Given the description of an element on the screen output the (x, y) to click on. 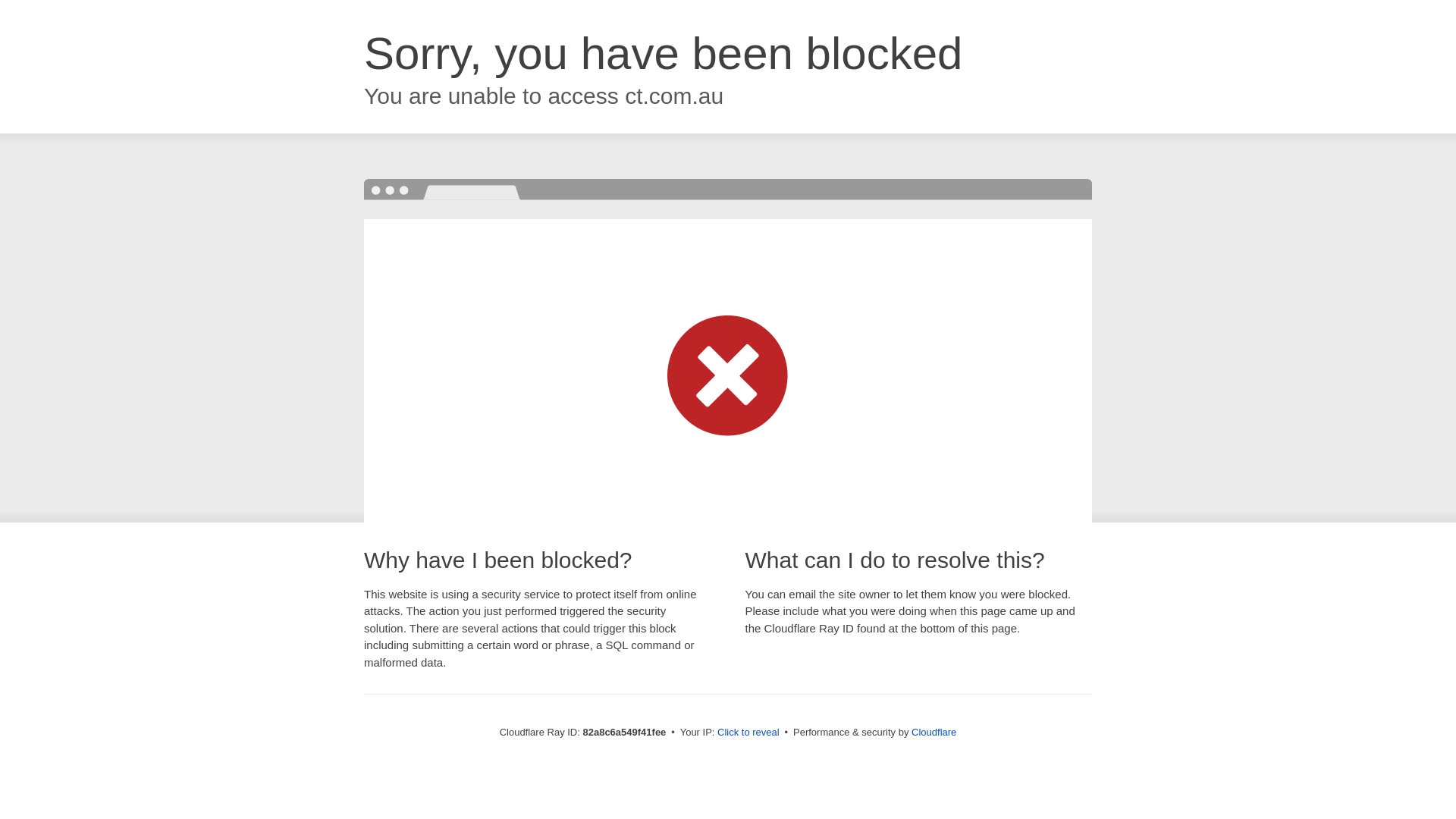
Cloudflare Element type: text (933, 731)
Click to reveal Element type: text (748, 732)
